Given the description of an element on the screen output the (x, y) to click on. 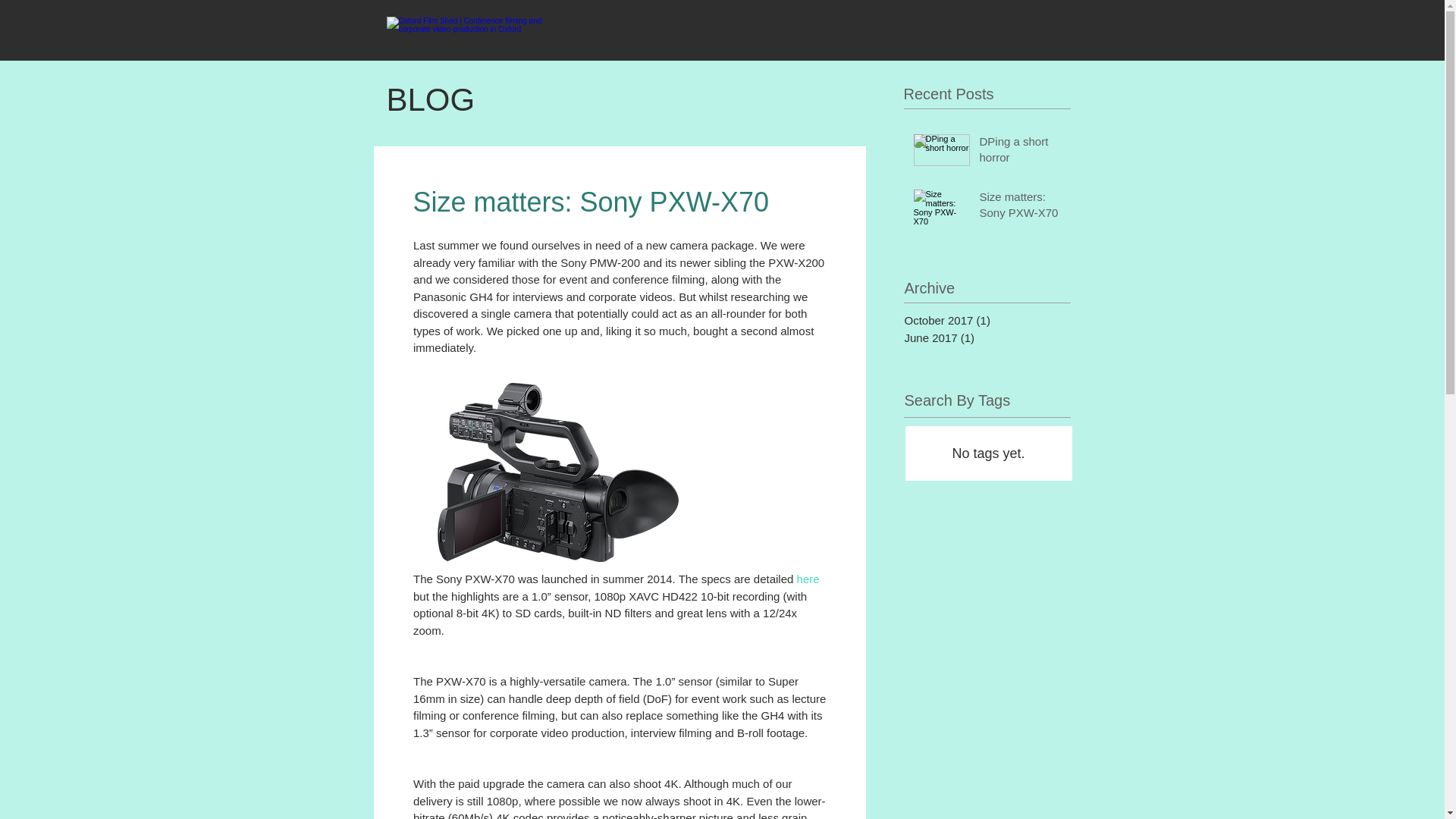
here (807, 579)
DPing a short horror (1020, 152)
Size matters: Sony PXW-X70 (1020, 207)
